Given the description of an element on the screen output the (x, y) to click on. 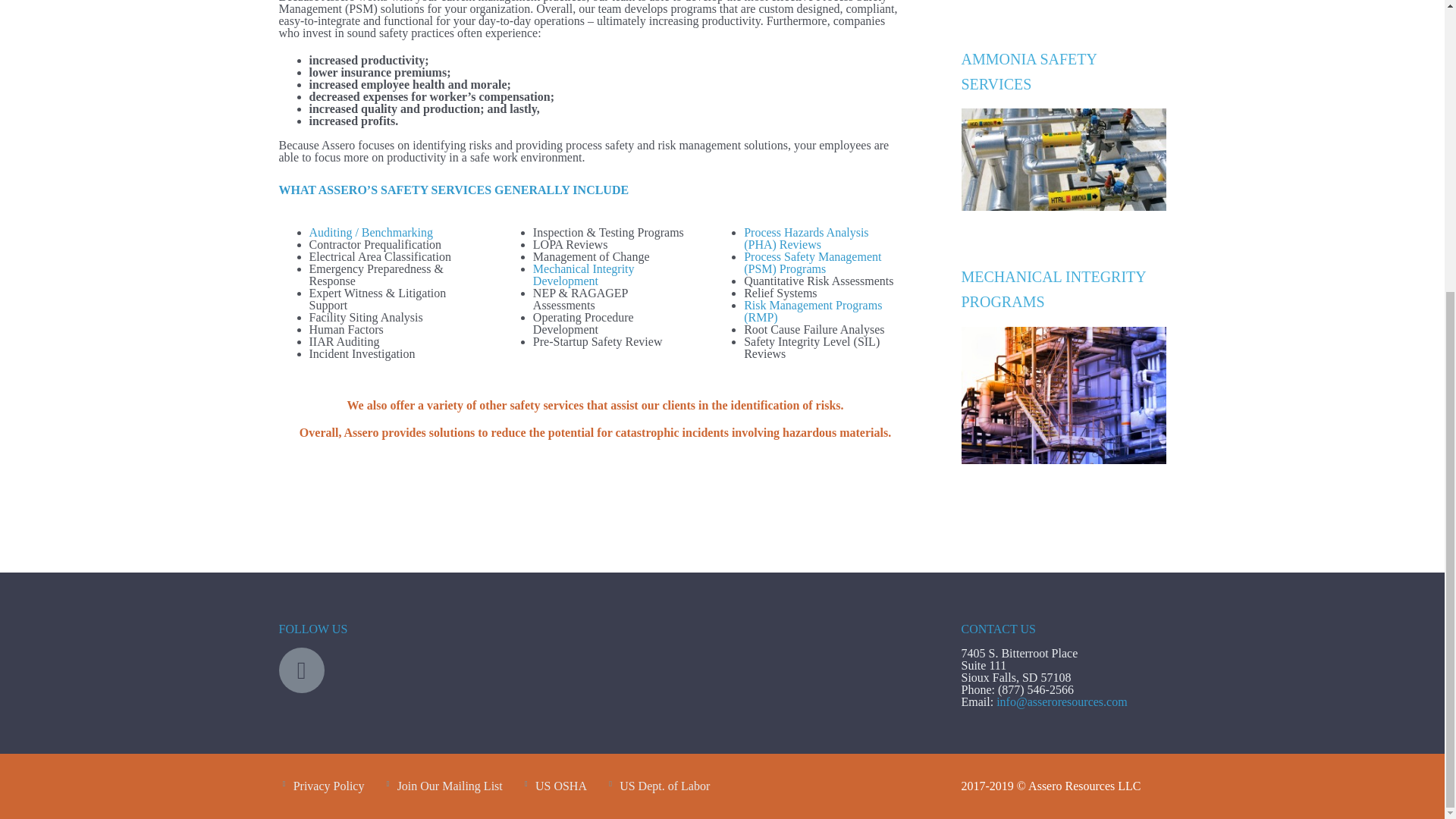
linkedin (301, 669)
linkedin (301, 669)
US OSHA (560, 786)
US Dept. of Labor (665, 786)
US Department of Labor (665, 786)
Privacy Policy (329, 786)
Mechanical Integrity Development (583, 274)
Join Our Mailing List (449, 786)
